Given the description of an element on the screen output the (x, y) to click on. 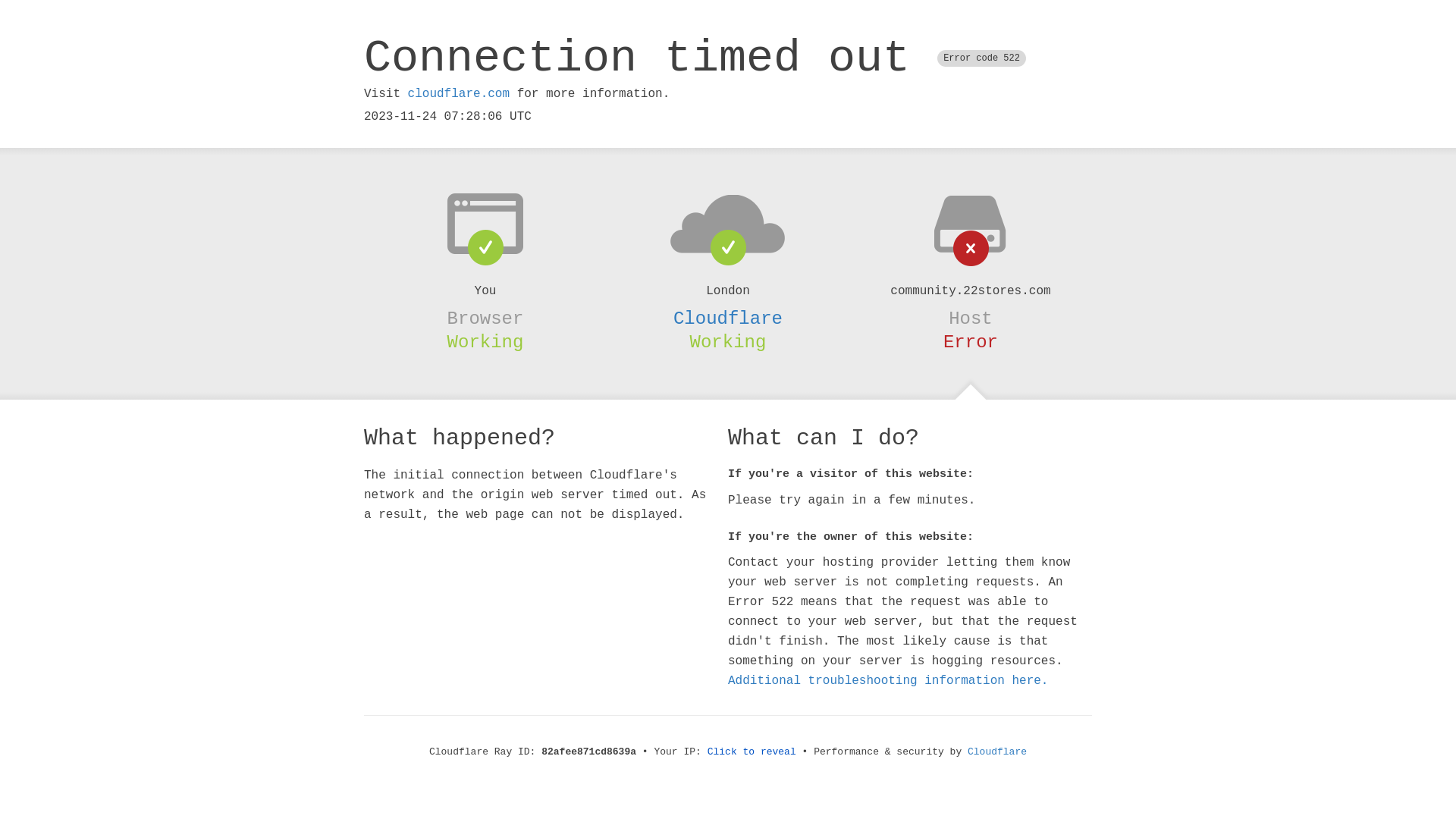
cloudflare.com Element type: text (458, 93)
Additional troubleshooting information here. Element type: text (888, 680)
Cloudflare Element type: text (727, 318)
Click to reveal Element type: text (751, 751)
Cloudflare Element type: text (996, 751)
